Given the description of an element on the screen output the (x, y) to click on. 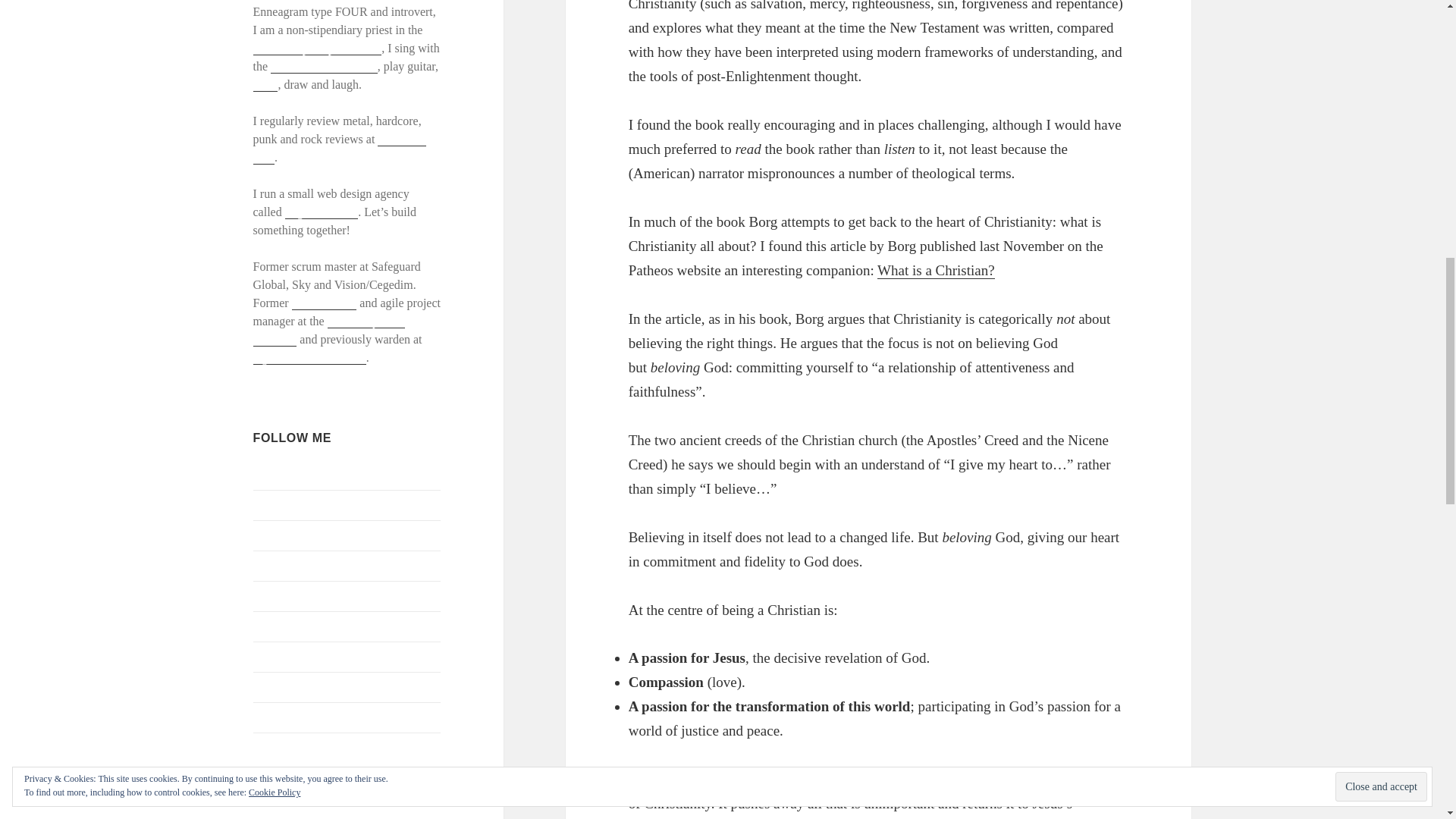
Slideshare (278, 686)
Instagram (277, 564)
LinkedIn (275, 594)
195 metal CDs (339, 148)
GitHub (271, 534)
Mastodon.scot (288, 625)
Bluesky (272, 473)
SoundCloud (283, 716)
Scribd (269, 656)
NYCGB alumni choir (323, 66)
Article on Patheos website (935, 270)
web architect (324, 303)
University of St Andrews (328, 330)
Digital Shed45 (321, 212)
Scottish Episcopal Church (317, 48)
